Given the description of an element on the screen output the (x, y) to click on. 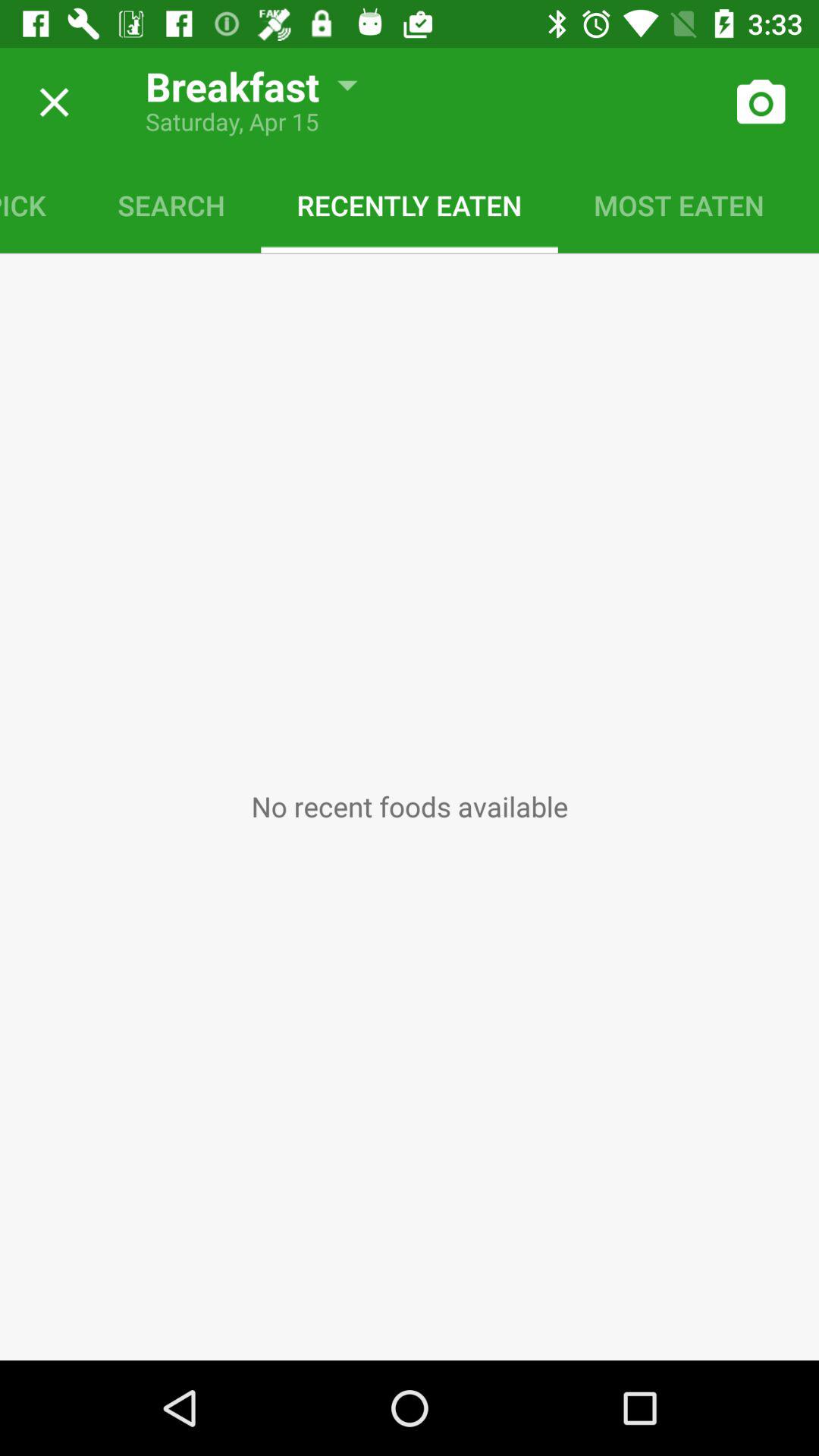
open camera icon (760, 102)
